Given the description of an element on the screen output the (x, y) to click on. 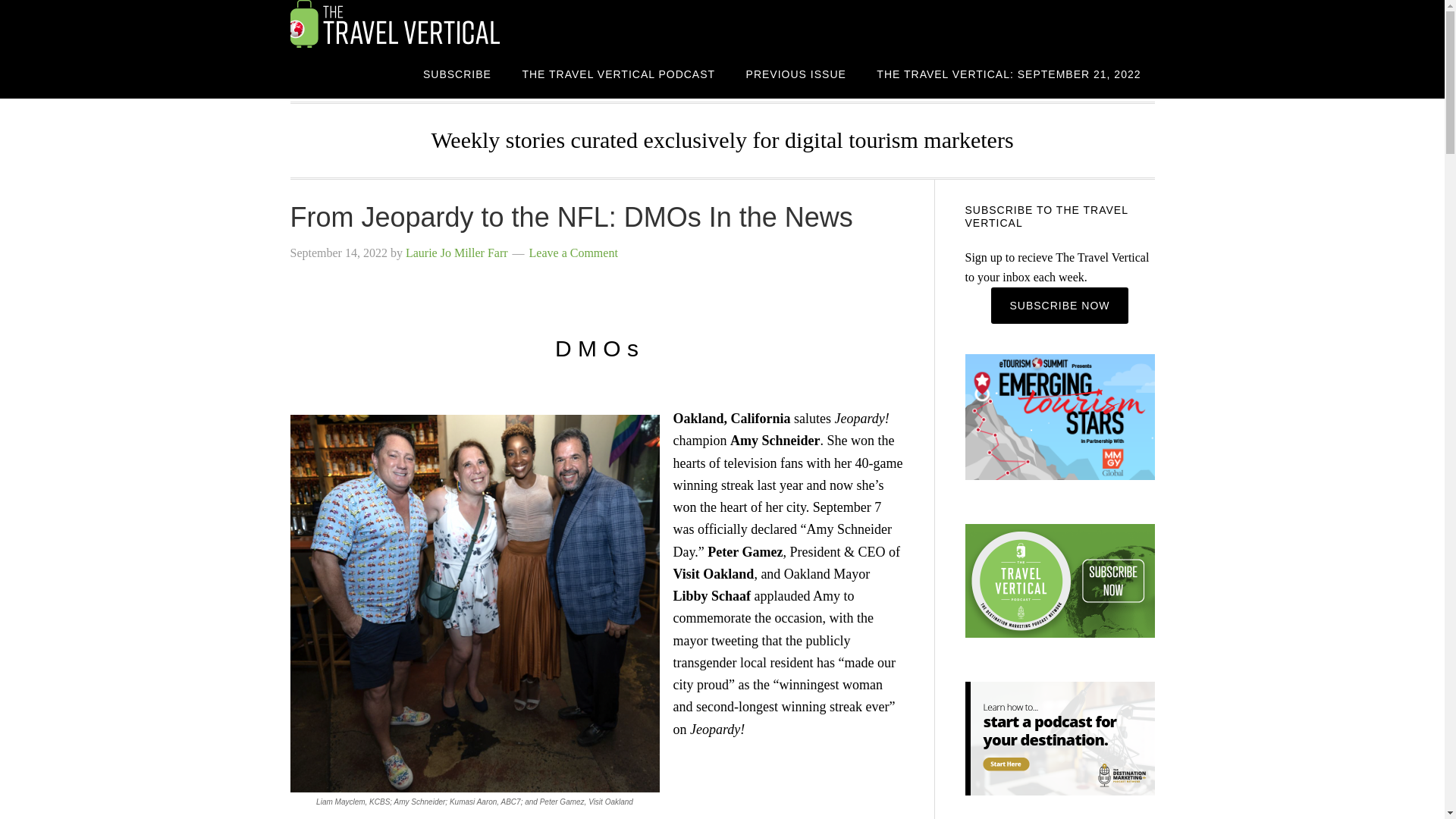
PREVIOUS ISSUE (796, 73)
Laurie Jo Miller Farr (457, 252)
Subscribe Now (1058, 305)
THE TRAVEL VERTICAL (410, 24)
THE TRAVEL VERTICAL: SEPTEMBER 21, 2022 (1008, 73)
Leave a Comment (573, 252)
From Jeopardy to the NFL: DMOs In the News (570, 216)
SUBSCRIBE (457, 73)
THE TRAVEL VERTICAL PODCAST (618, 73)
